Given the description of an element on the screen output the (x, y) to click on. 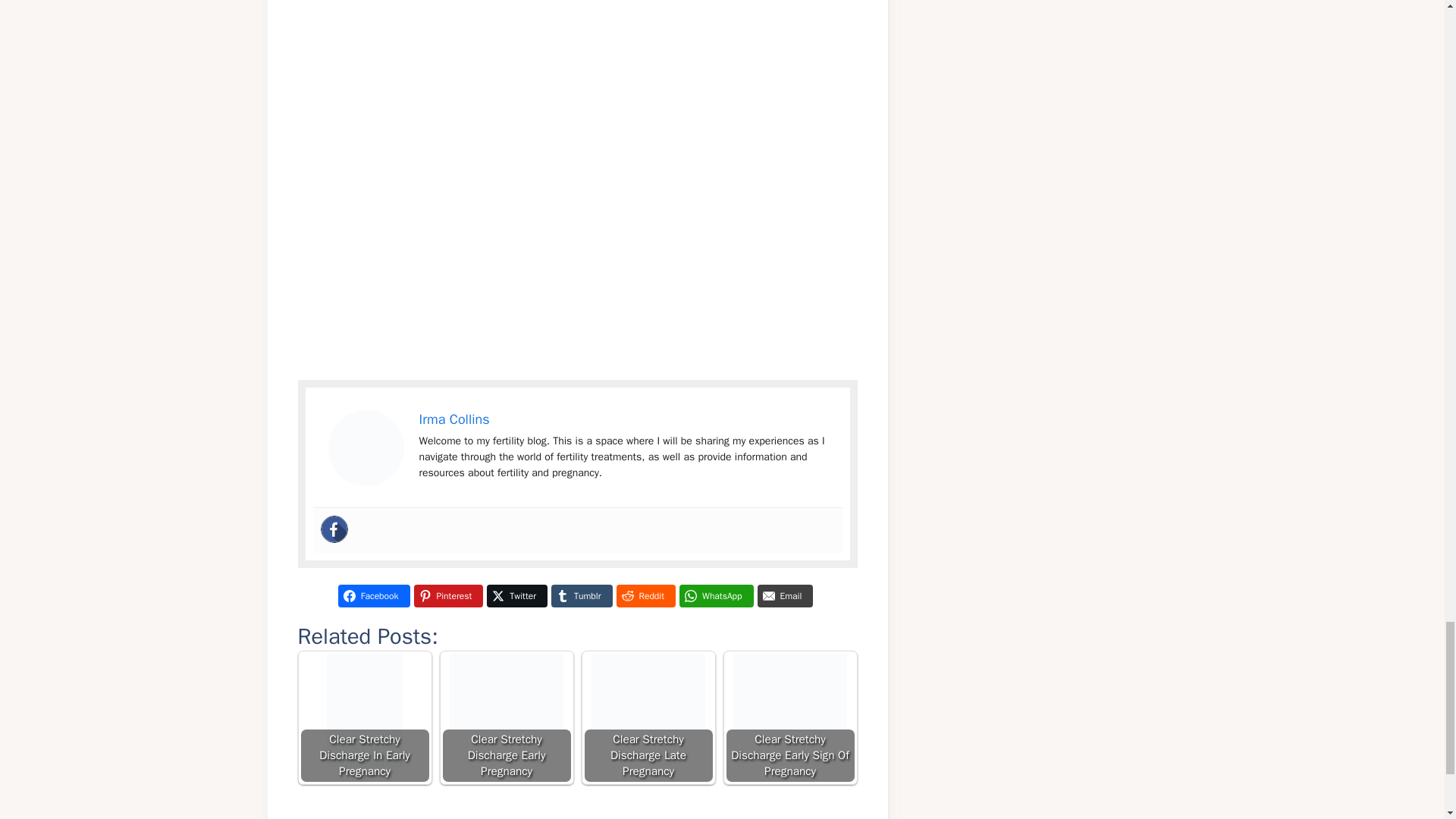
Tumblr (581, 595)
Clear Stretchy Discharge Early Sign Of Pregnancy (789, 717)
Twitter (516, 595)
Pinterest (448, 595)
Facebook (333, 528)
Facebook (373, 595)
Clear Stretchy Discharge Early Pregnancy (505, 717)
Share on Twitter (516, 595)
Clear Stretchy Discharge In Early Pregnancy (364, 717)
Share on Tumblr (581, 595)
